Given the description of an element on the screen output the (x, y) to click on. 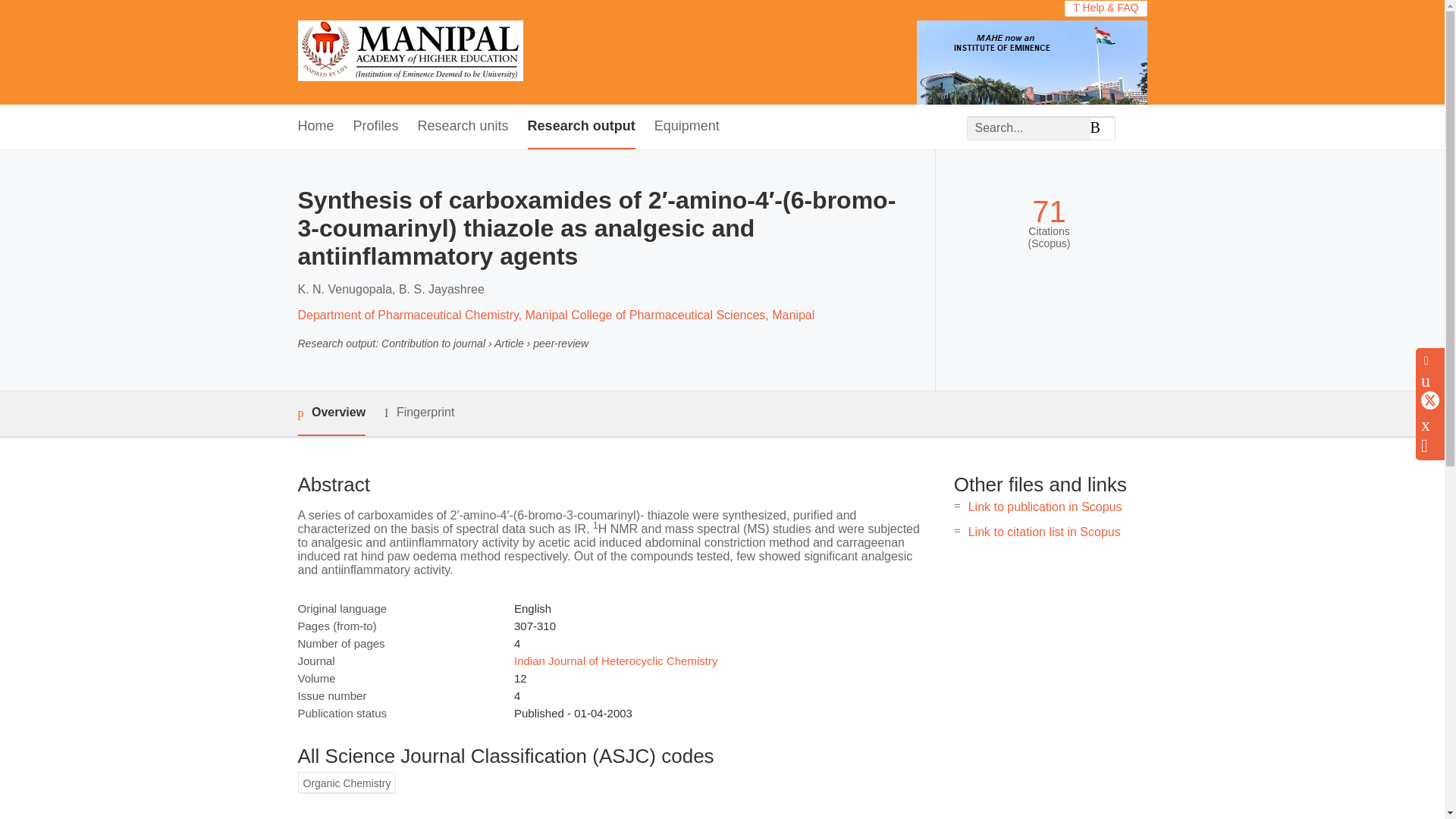
71 (1048, 212)
Manipal Academy of Higher Education, Manipal, India Home (409, 52)
Overview (331, 413)
Profiles (375, 126)
Research units (462, 126)
Link to citation list in Scopus (1044, 531)
Research output (580, 126)
Equipment (686, 126)
Indian Journal of Heterocyclic Chemistry (615, 660)
Link to publication in Scopus (1045, 506)
Fingerprint (419, 412)
